Given the description of an element on the screen output the (x, y) to click on. 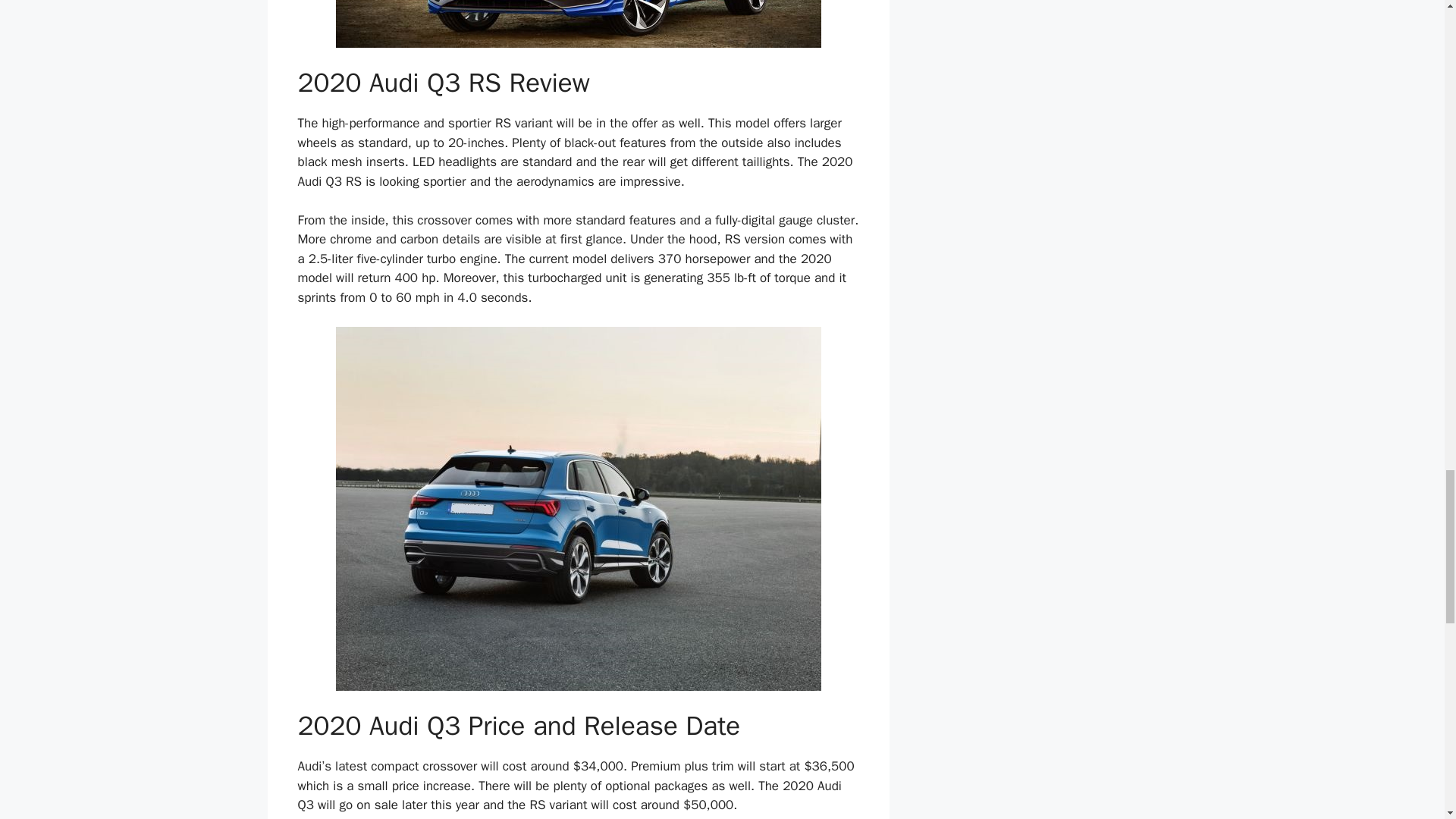
2020 Auddi Q3 RS (577, 23)
